Given the description of an element on the screen output the (x, y) to click on. 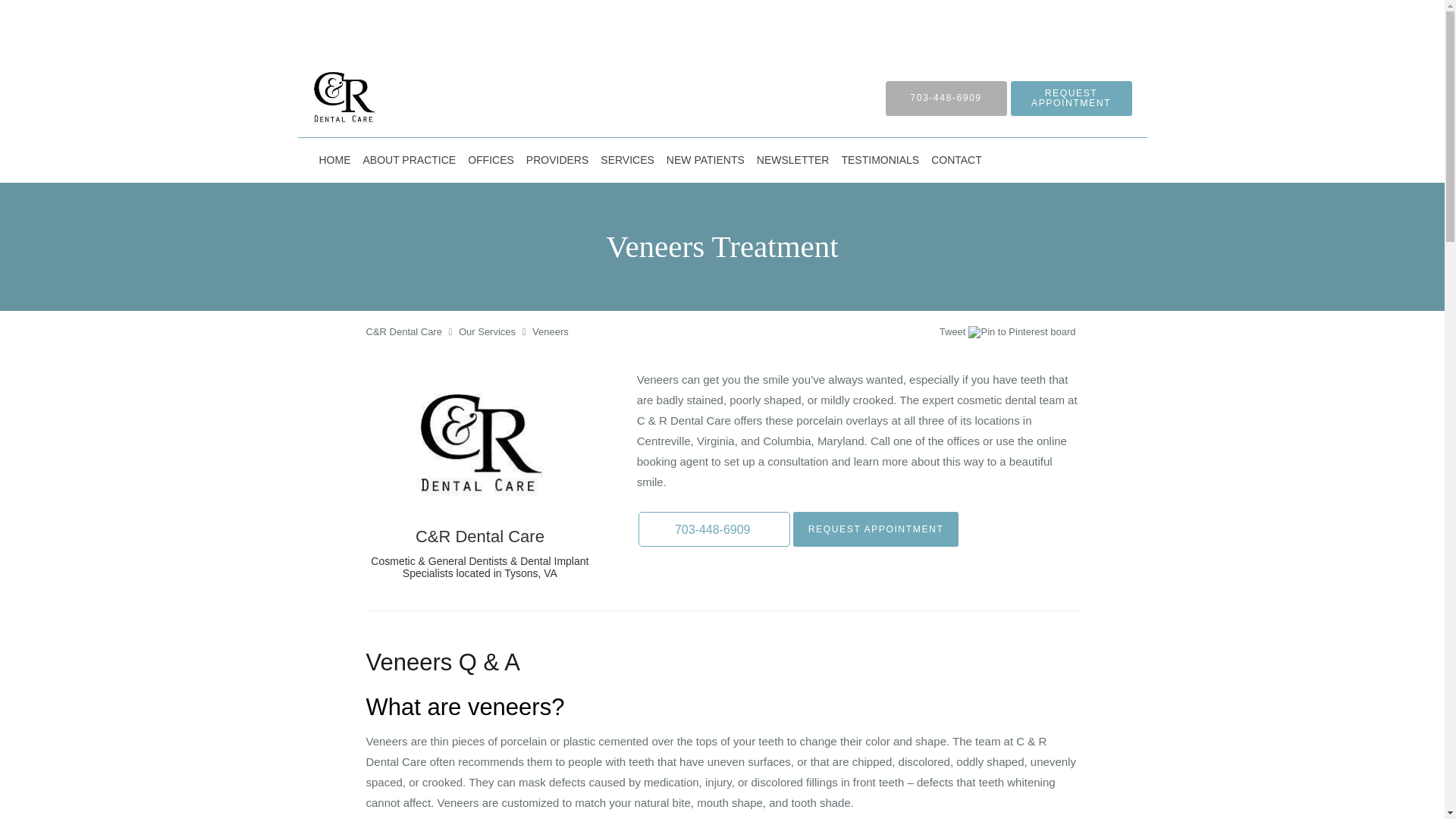
703-448-6909 (946, 97)
Our Services (486, 331)
703-448-6909 (714, 529)
OFFICES (490, 159)
REQUEST APPOINTMENT (876, 529)
Veneers (550, 331)
Facebook social button (880, 333)
NEWSLETTER (793, 159)
CONTACT (956, 159)
TESTIMONIALS (879, 159)
